Given the description of an element on the screen output the (x, y) to click on. 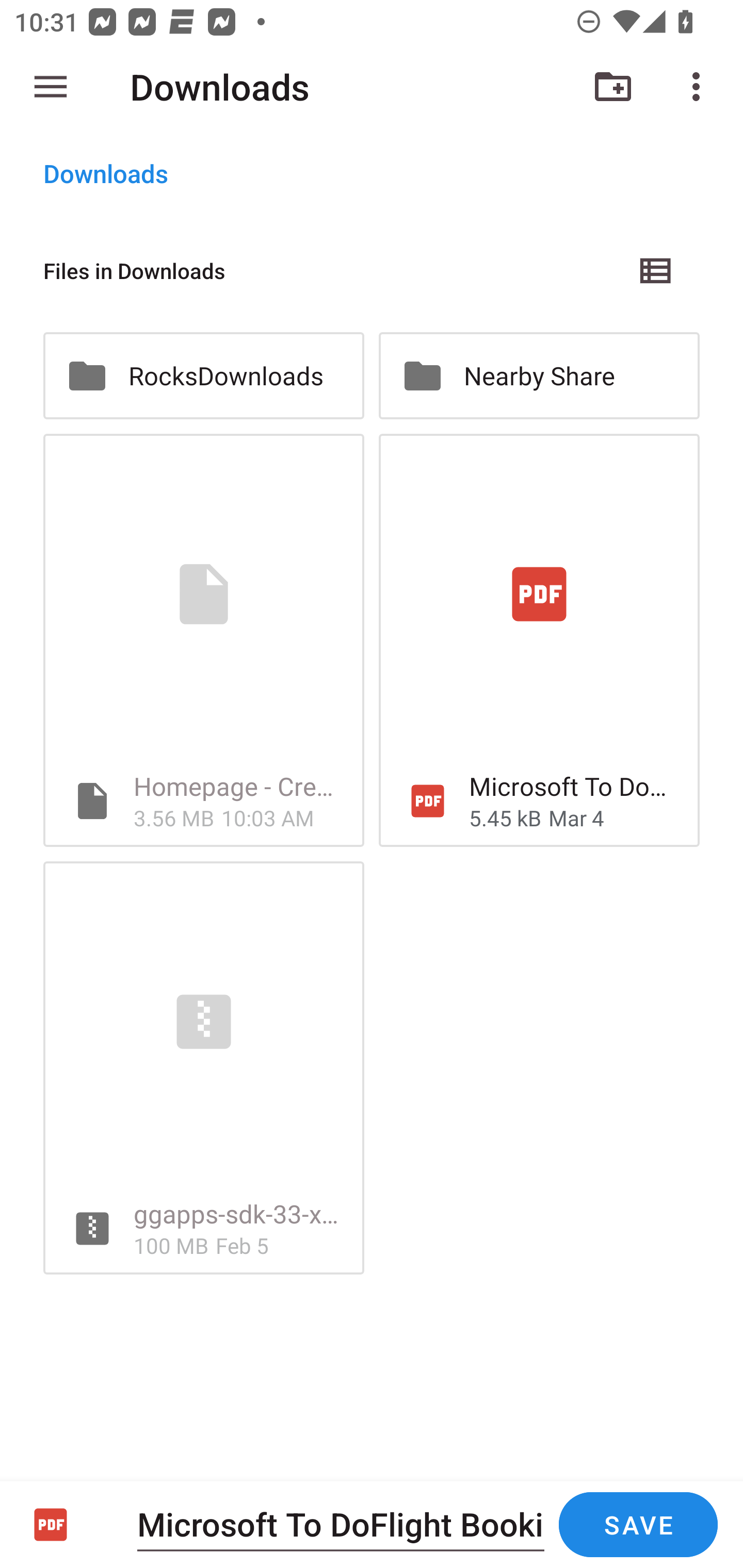
Show roots (50, 86)
New folder (612, 86)
More options (699, 86)
List view (655, 270)
RocksDownloads (203, 375)
Nearby Share (538, 375)
Homepage - Creative Commons 3.56 MB 10:03 AM (203, 640)
Microsoft To DoFlight Booking.pdf 5.45 kB Mar 4 (538, 640)
ggapps-sdk-33-x86_64-20231003.zip 100 MB Feb 5 (203, 1067)
SAVE (637, 1524)
Microsoft To DoFlight Booking.pdf (340, 1523)
